Given the description of an element on the screen output the (x, y) to click on. 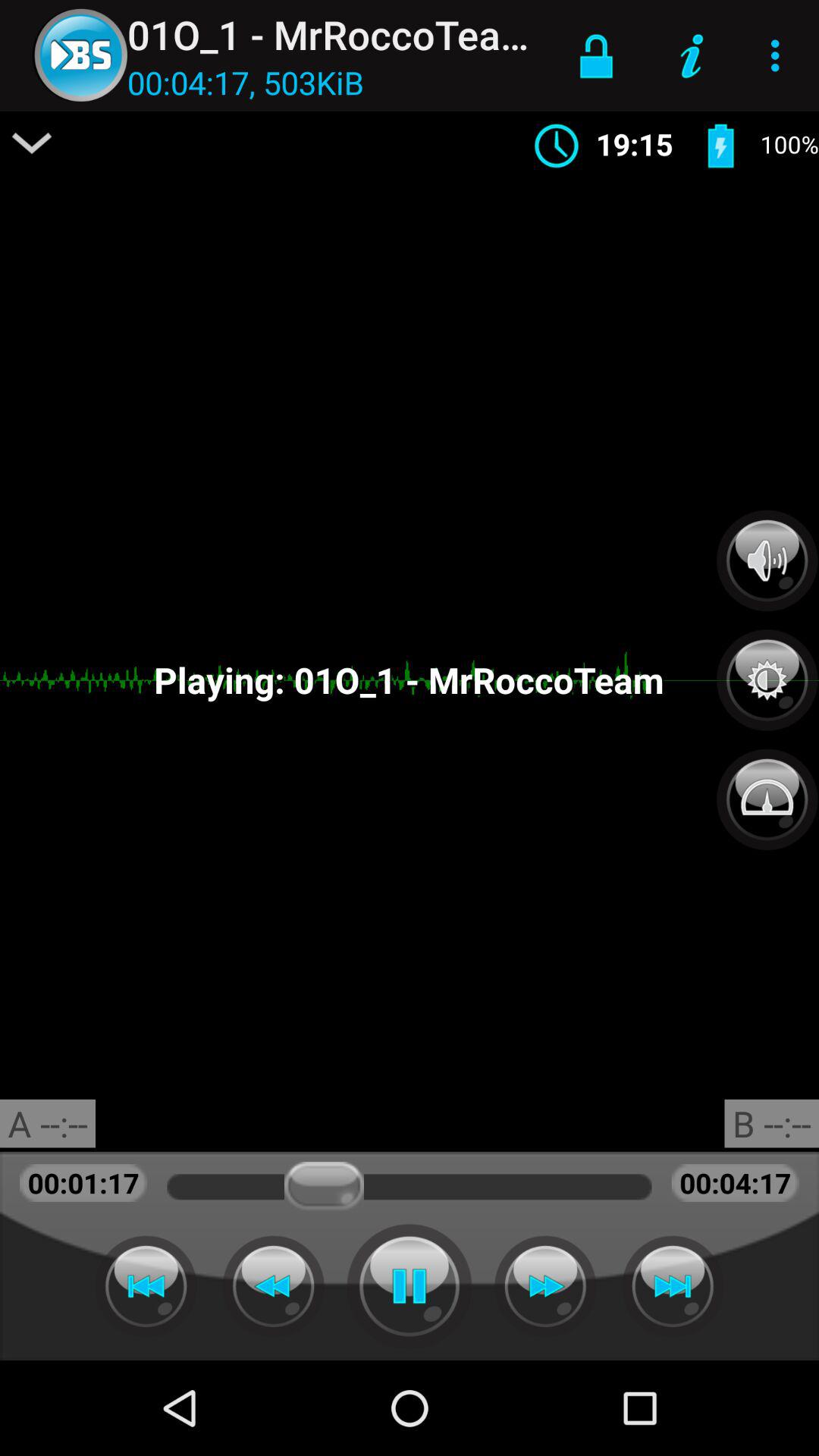
brightness (767, 671)
